Given the description of an element on the screen output the (x, y) to click on. 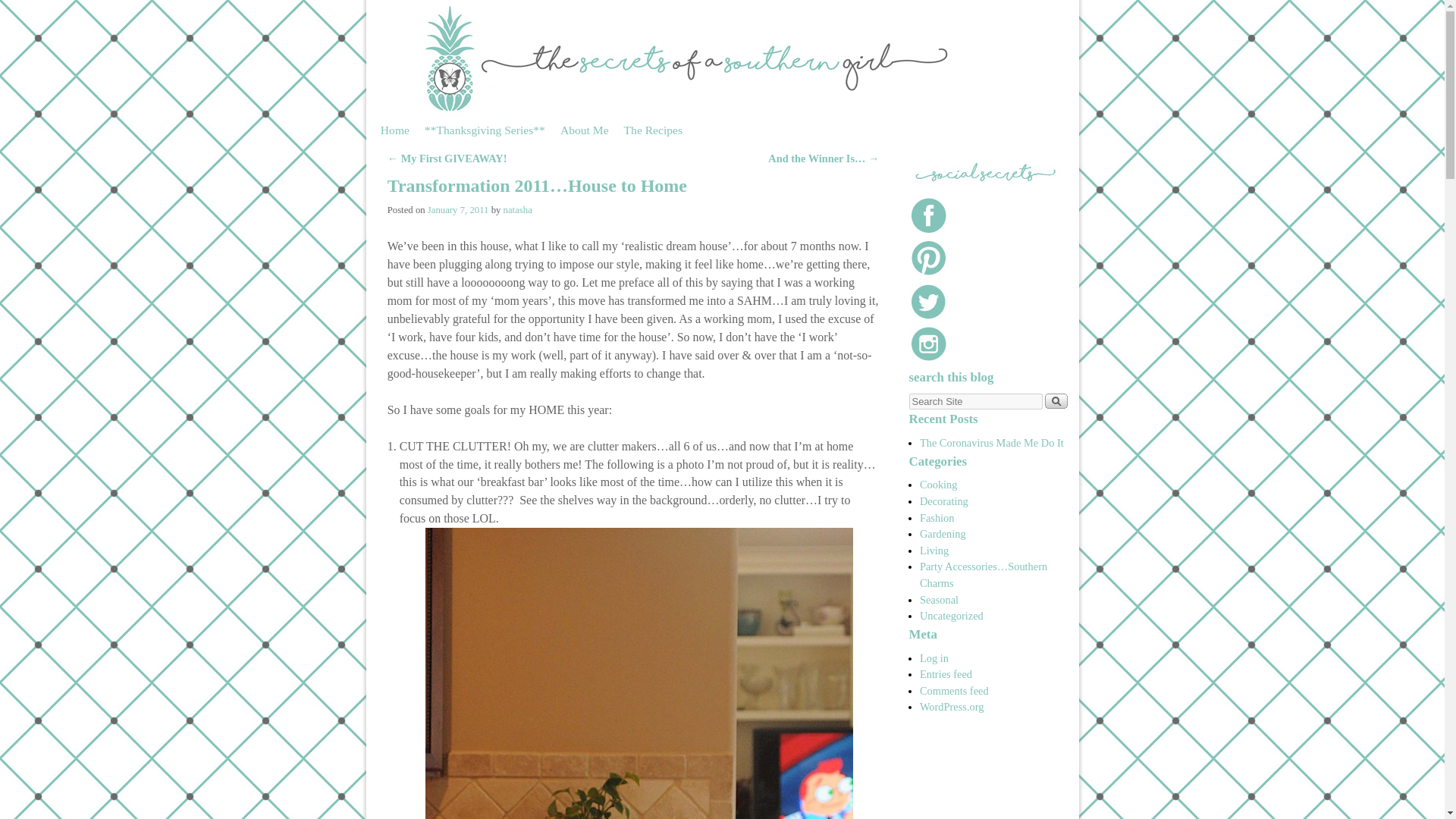
About Me (584, 130)
Skip to secondary content (415, 122)
The Recipes (652, 130)
January 7, 2011 (458, 209)
11:01 am (458, 209)
southerngirlsecrets.com (721, 58)
Skip to primary content (411, 122)
www.southerngirlsecrets.com (983, 215)
www.southerngirlsecrets.com (983, 171)
Home (394, 130)
www.southerngirlsecrets.com (983, 257)
natasha (517, 209)
View all posts by natasha (517, 209)
